Given the description of an element on the screen output the (x, y) to click on. 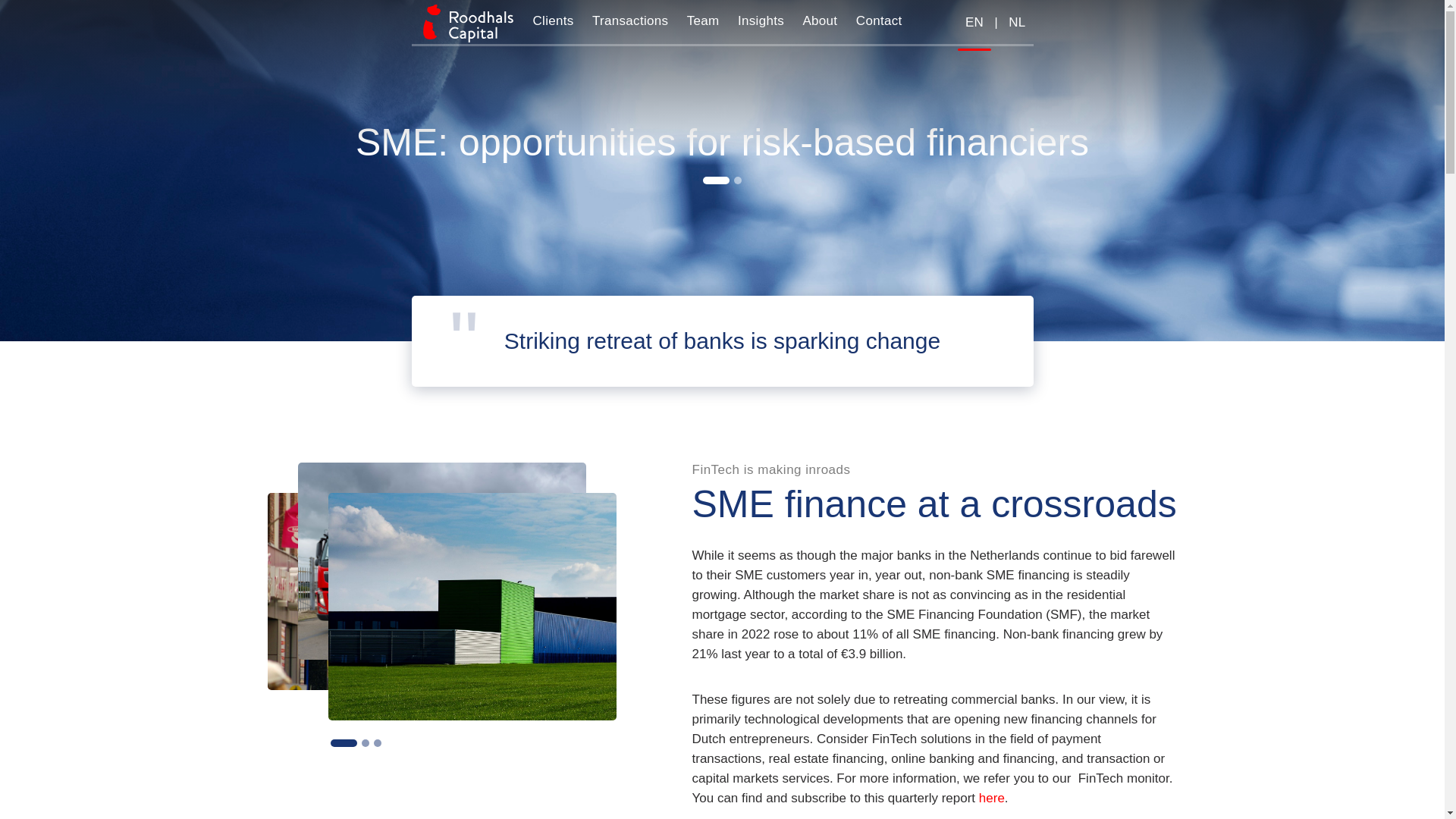
EN (974, 22)
Contact (879, 20)
Team (702, 20)
Clients (552, 20)
Insights (761, 20)
About (819, 20)
Transactions (630, 20)
NL (1016, 22)
here (991, 798)
